Given the description of an element on the screen output the (x, y) to click on. 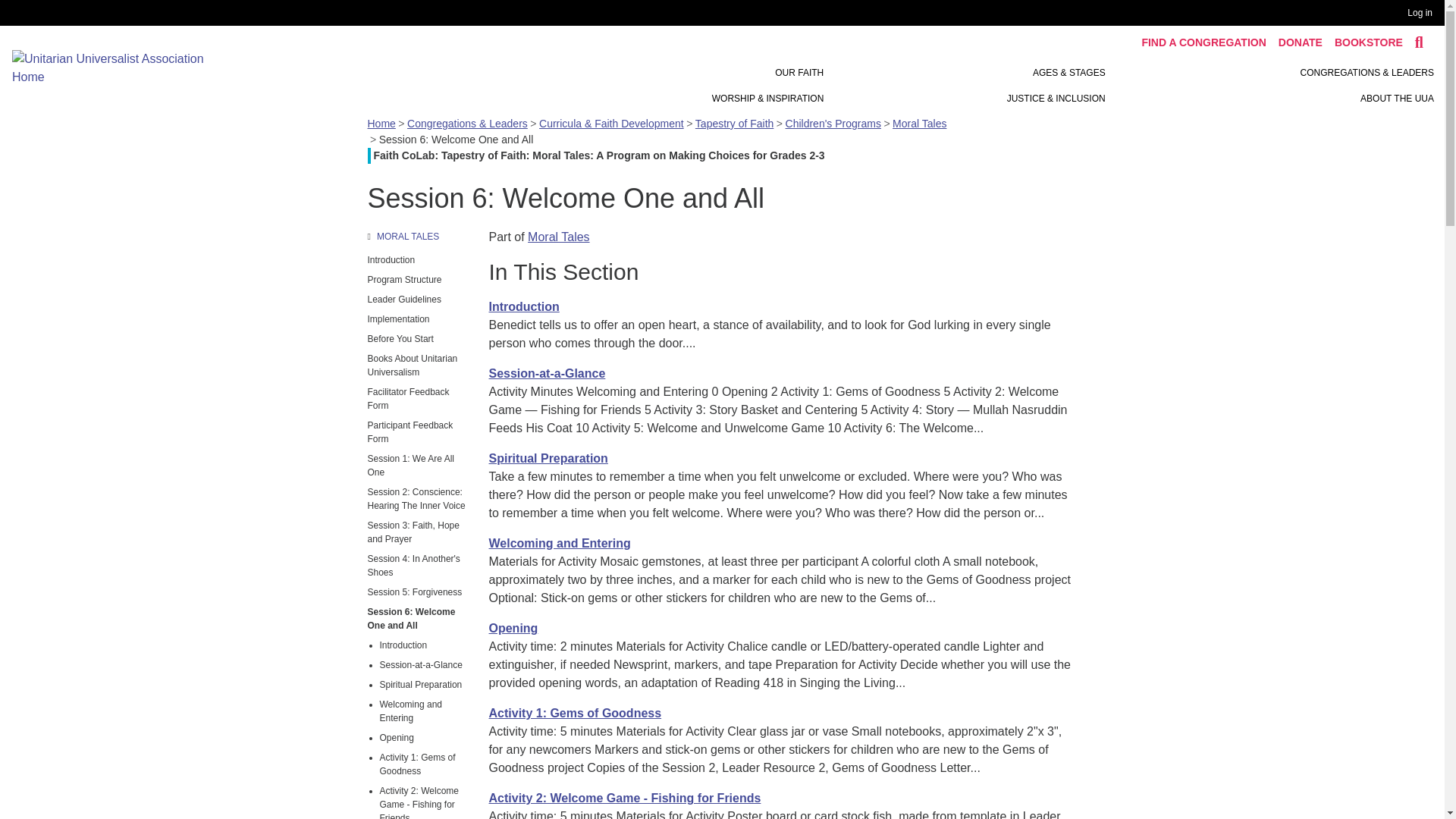
Site Menu (962, 85)
DONATE (1299, 42)
Home (117, 66)
Go up this menu (418, 236)
FIND A CONGREGATION (1203, 42)
Log in (1423, 12)
BOOKSTORE (1368, 42)
OUR FAITH (799, 72)
